Given the description of an element on the screen output the (x, y) to click on. 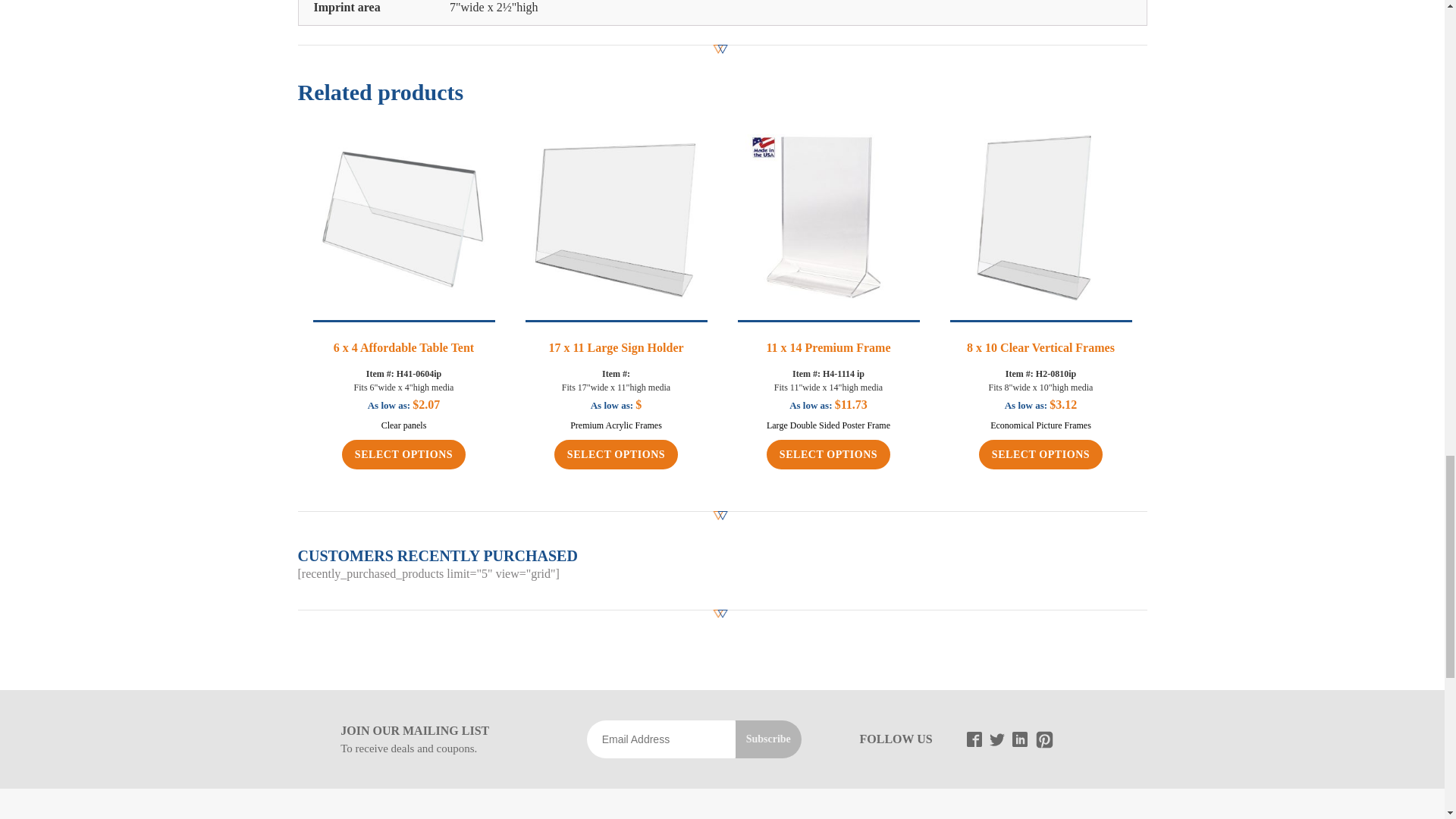
Subscribe (768, 739)
